Given the description of an element on the screen output the (x, y) to click on. 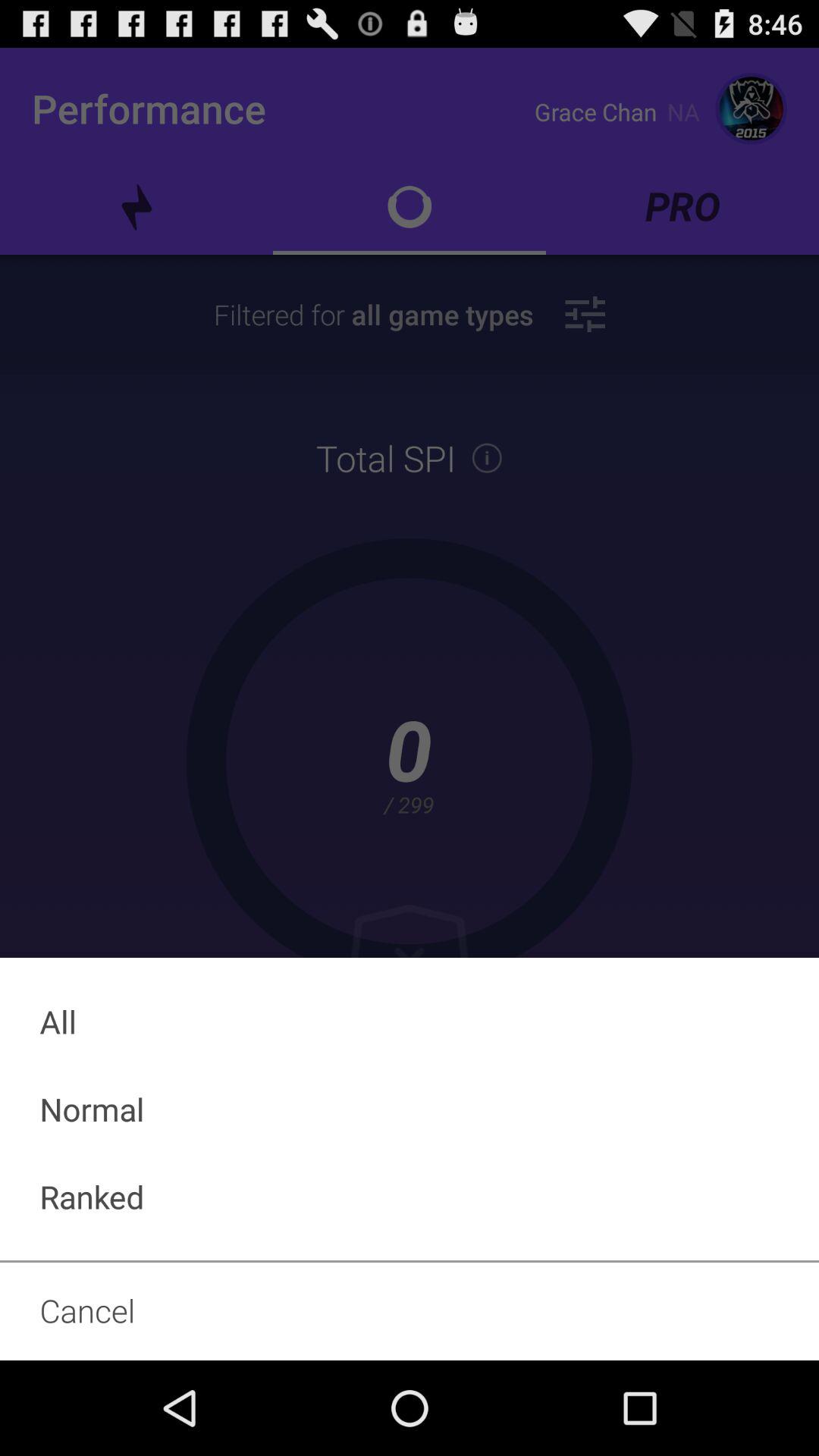
launch the item below the all icon (409, 1108)
